Given the description of an element on the screen output the (x, y) to click on. 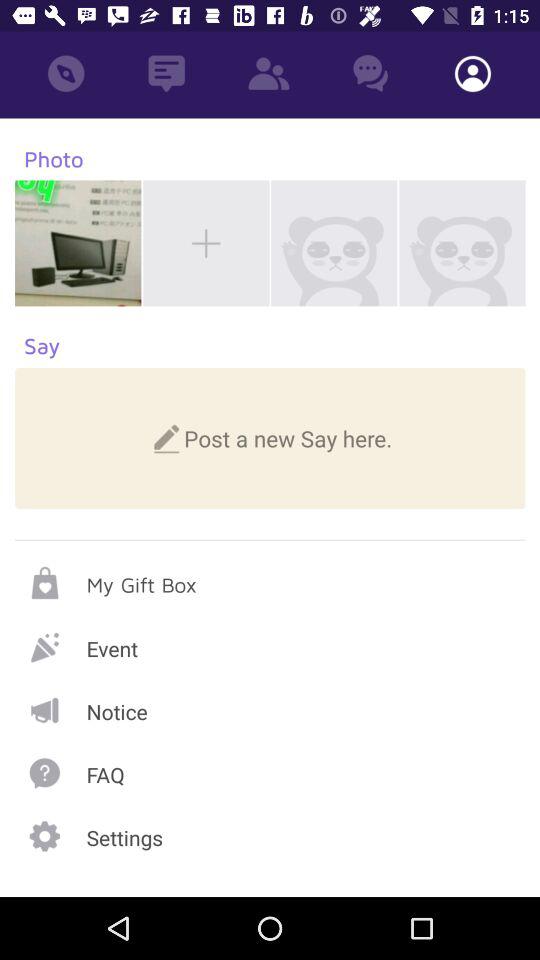
go to my gift box (270, 582)
